Given the description of an element on the screen output the (x, y) to click on. 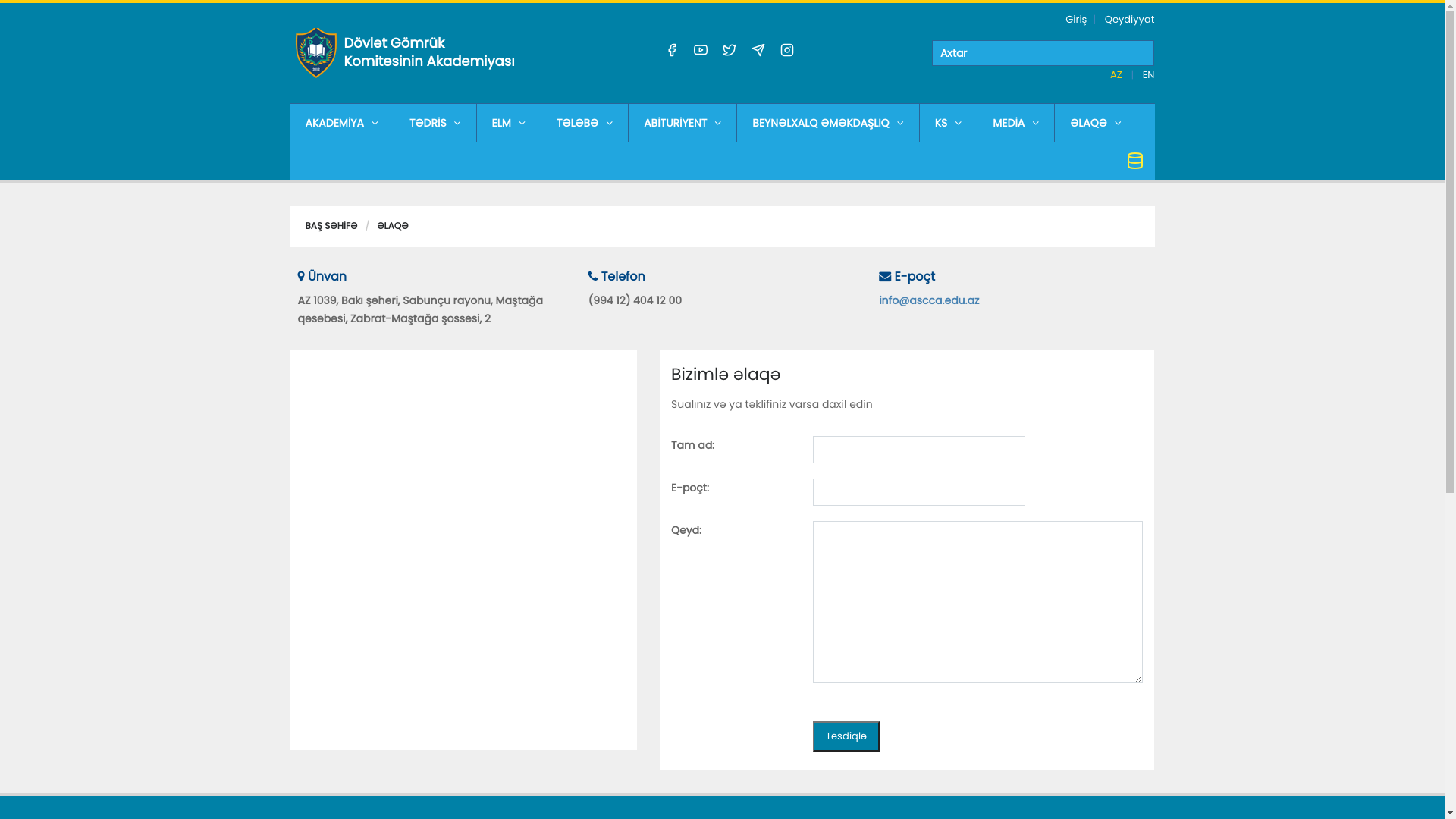
ELM Element type: text (508, 122)
info@ascca.edu.az Element type: text (928, 299)
EN Element type: text (1148, 74)
AZ Element type: text (1117, 74)
Qeydiyyat Element type: text (1129, 19)
KS Element type: text (948, 122)
search Element type: hover (1042, 52)
